Given the description of an element on the screen output the (x, y) to click on. 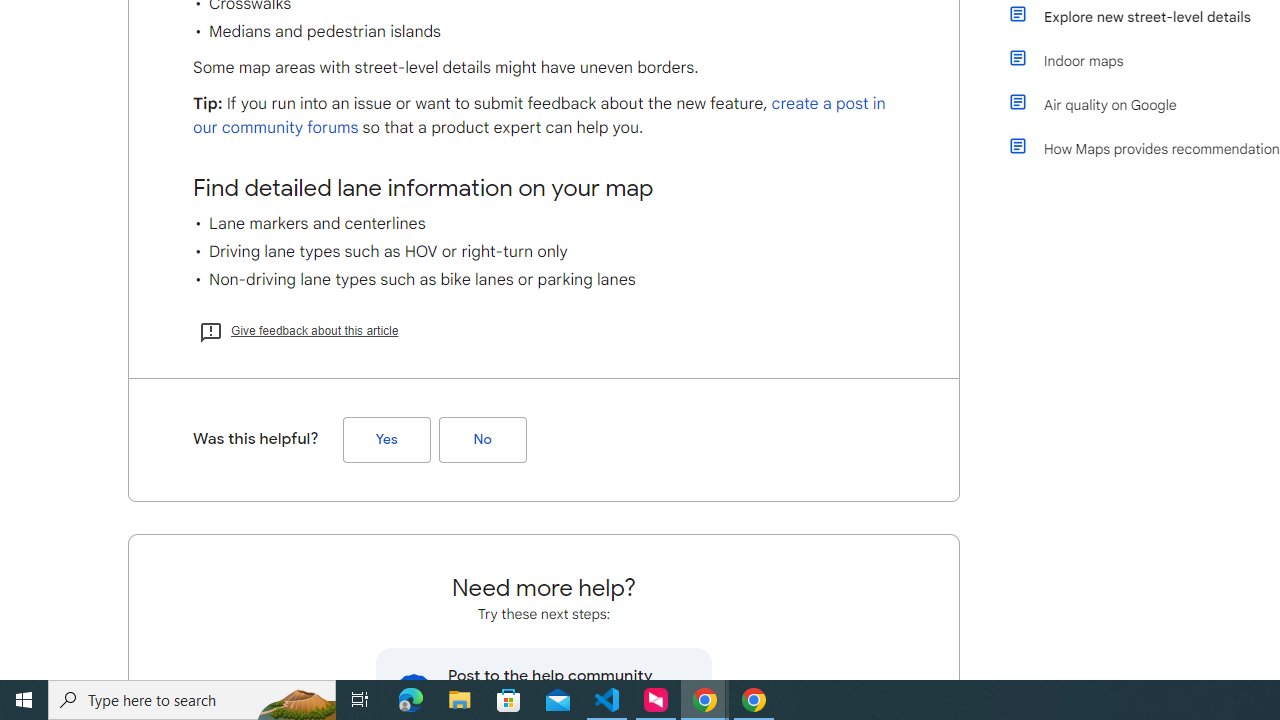
Medians and pedestrian islands (543, 31)
Give feedback about this article (298, 330)
No (Was this helpful?) (482, 439)
Non-driving lane types such as bike lanes or parking lanes (543, 279)
Lane markers and centerlines (543, 223)
Find detailed lane information on your map (543, 187)
Yes (Was this helpful?) (386, 439)
Driving lane types such as HOV or right-turn only (543, 251)
